Given the description of an element on the screen output the (x, y) to click on. 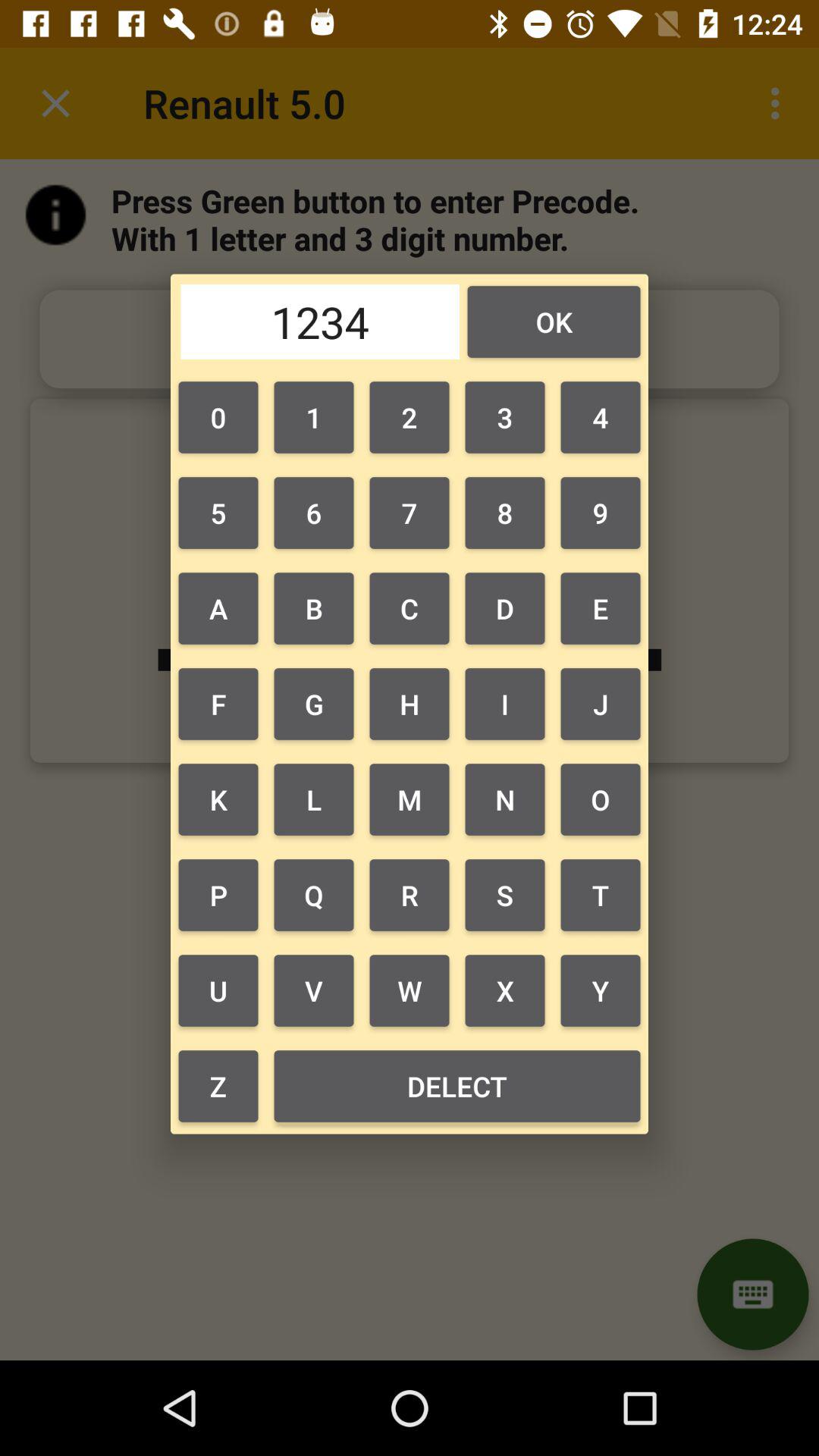
flip to the 8 icon (504, 512)
